Given the description of an element on the screen output the (x, y) to click on. 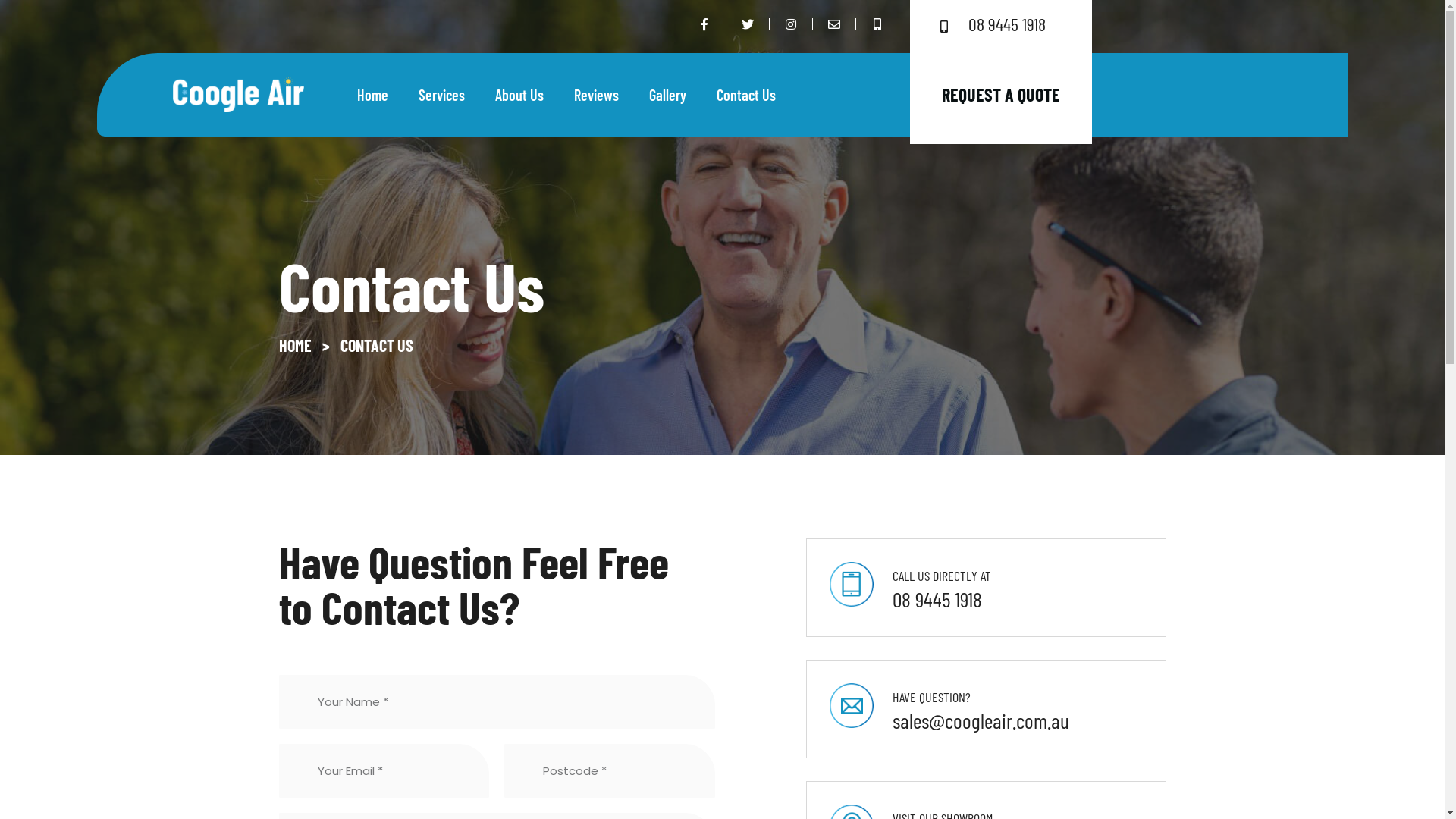
08 9445 1918 Element type: text (1001, 26)
Home Element type: text (371, 94)
CALL US DIRECTLY AT Element type: text (941, 575)
Services Element type: text (441, 94)
Gallery Element type: text (667, 94)
About Us Element type: text (518, 94)
REQUEST A QUOTE Element type: text (1001, 94)
HAVE QUESTION? Element type: text (931, 696)
Reviews Element type: text (595, 94)
Contact Us Element type: text (745, 94)
HOME Element type: text (295, 344)
